Given the description of an element on the screen output the (x, y) to click on. 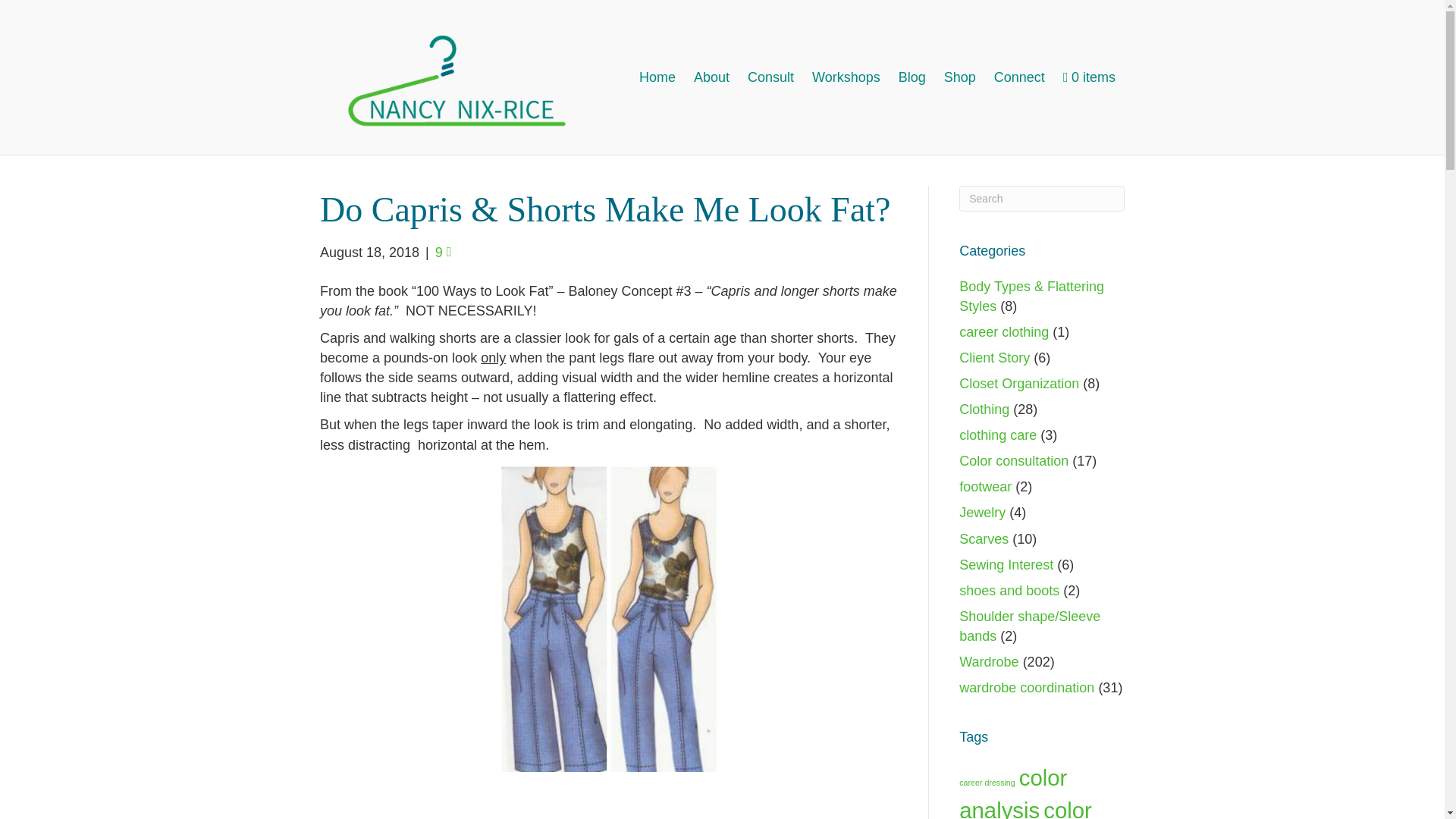
Consult (770, 77)
9 (443, 252)
Start shopping (1089, 77)
Shop (959, 77)
Workshops (846, 77)
Connect (1019, 77)
0 items (1089, 77)
Type and press Enter to search. (1041, 198)
Home (657, 77)
Blog (911, 77)
